Given the description of an element on the screen output the (x, y) to click on. 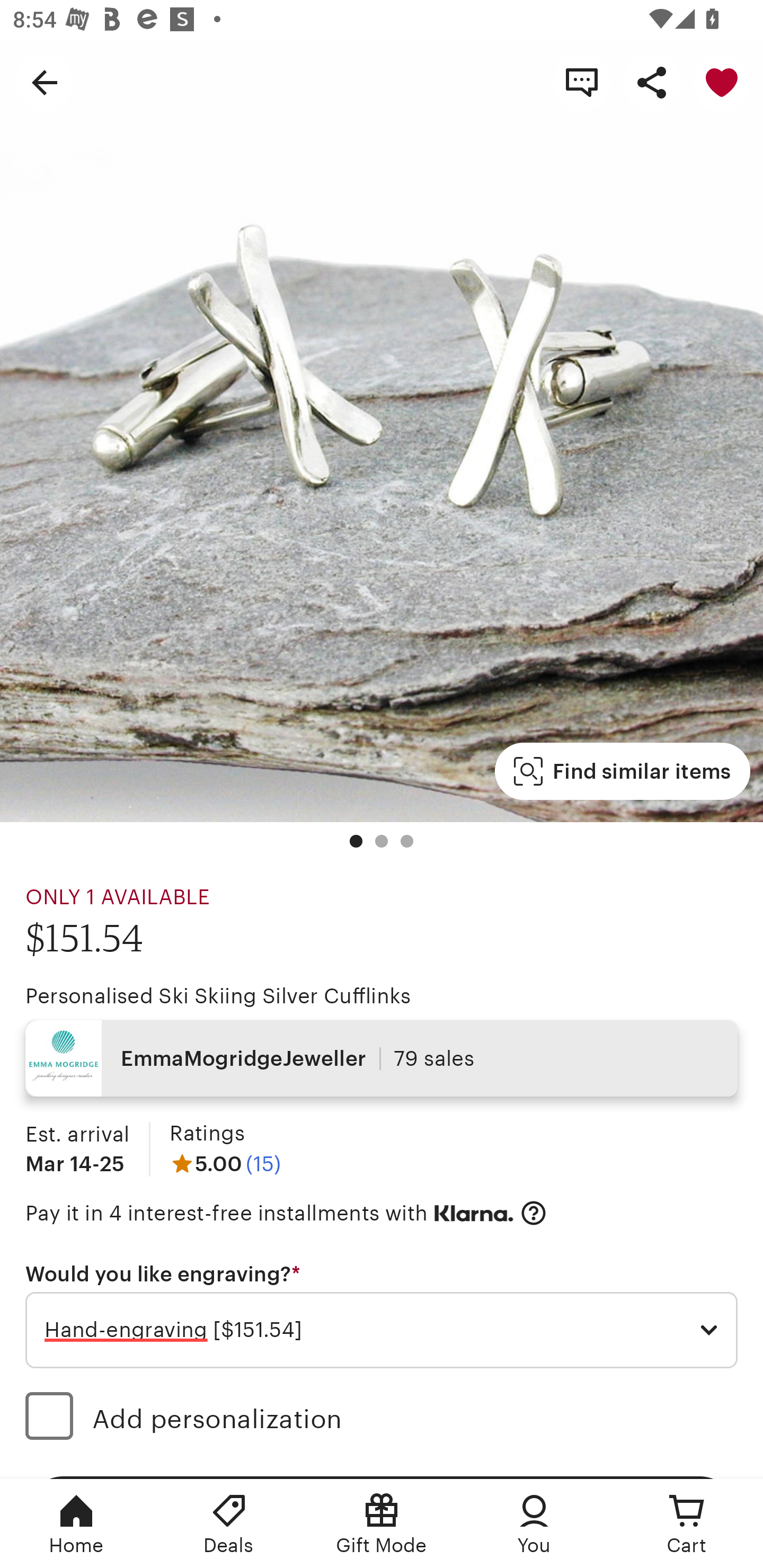
Navigate up (44, 81)
Contact shop (581, 81)
Share (651, 81)
Find similar items (622, 771)
Personalised Ski Skiing Silver Cufflinks (218, 996)
EmmaMogridgeJeweller 79 sales (381, 1058)
Ratings (206, 1133)
5.00 (15) (225, 1163)
Hand-engraving [$151.54] (381, 1330)
Add personalization (optional) Add personalization (381, 1418)
Deals (228, 1523)
Gift Mode (381, 1523)
You (533, 1523)
Cart (686, 1523)
